Given the description of an element on the screen output the (x, y) to click on. 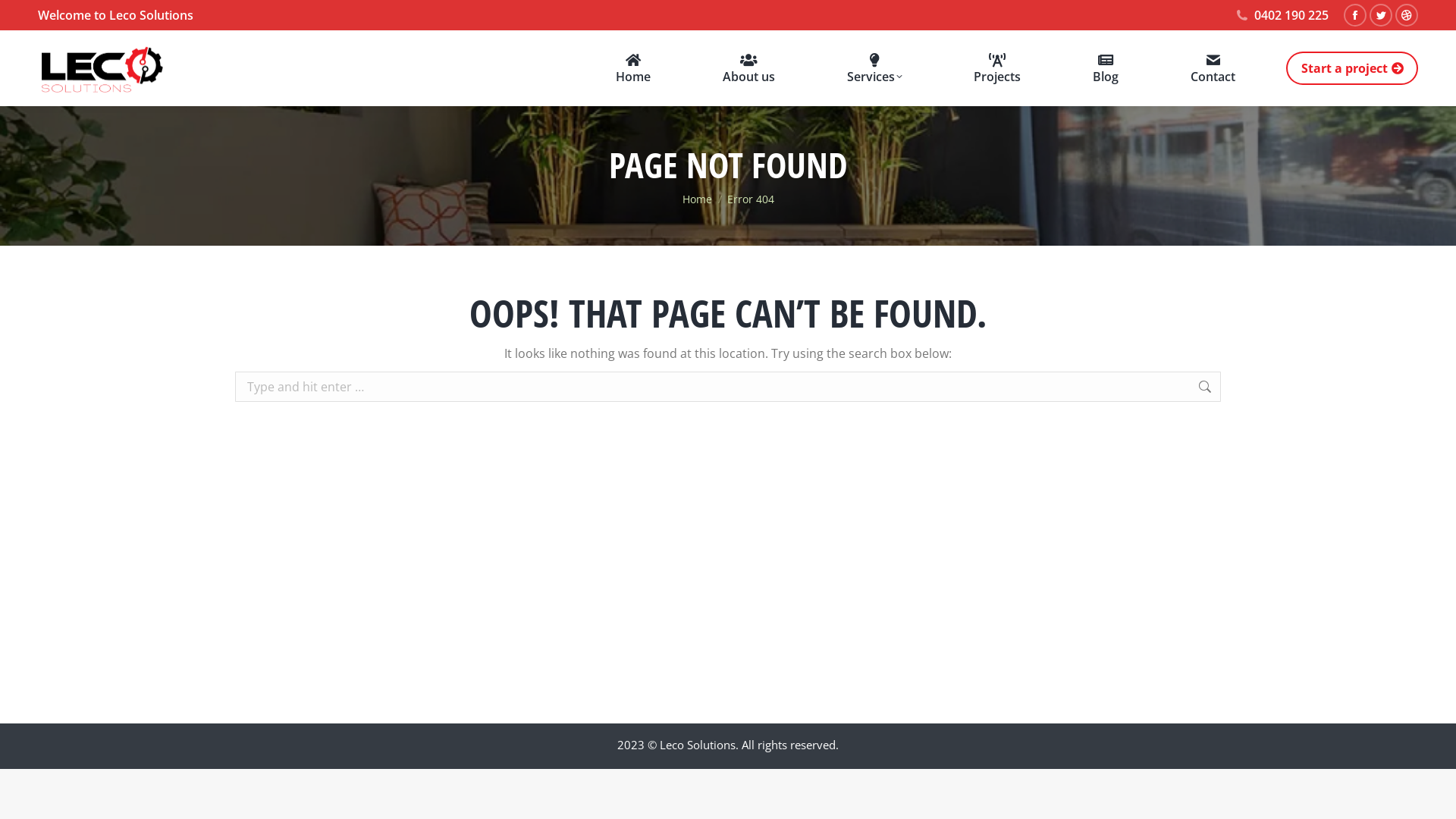
Facebook page opens in new window Element type: text (1354, 14)
Dribbble page opens in new window Element type: text (1406, 14)
Contact Element type: text (1212, 68)
Start a project Element type: text (1352, 67)
Twitter page opens in new window Element type: text (1380, 14)
Home Element type: text (633, 68)
Projects Element type: text (997, 68)
About us Element type: text (748, 68)
0402 190 225 Element type: text (1281, 14)
Services Element type: text (874, 68)
Home Element type: text (697, 198)
Blog Element type: text (1105, 68)
Go! Element type: text (1251, 389)
